Given the description of an element on the screen output the (x, y) to click on. 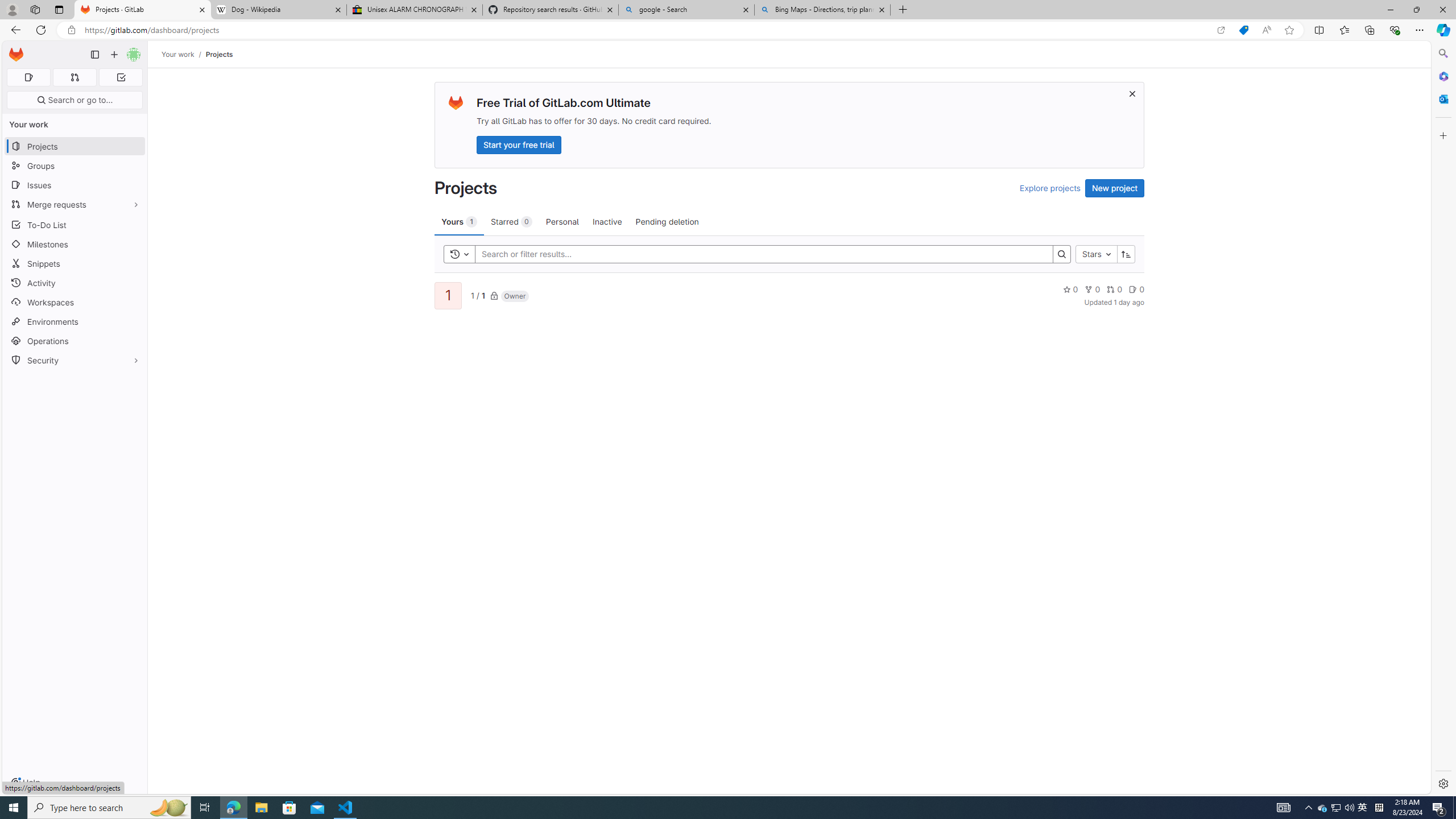
Operations (74, 340)
Issues (74, 185)
Snippets (74, 262)
Milestones (74, 244)
Groups (74, 165)
Open in app (1220, 29)
Your work (178, 53)
App bar (728, 29)
Yours 1 (458, 221)
Outlook (1442, 98)
Pending deletion (667, 221)
Security (74, 359)
